Given the description of an element on the screen output the (x, y) to click on. 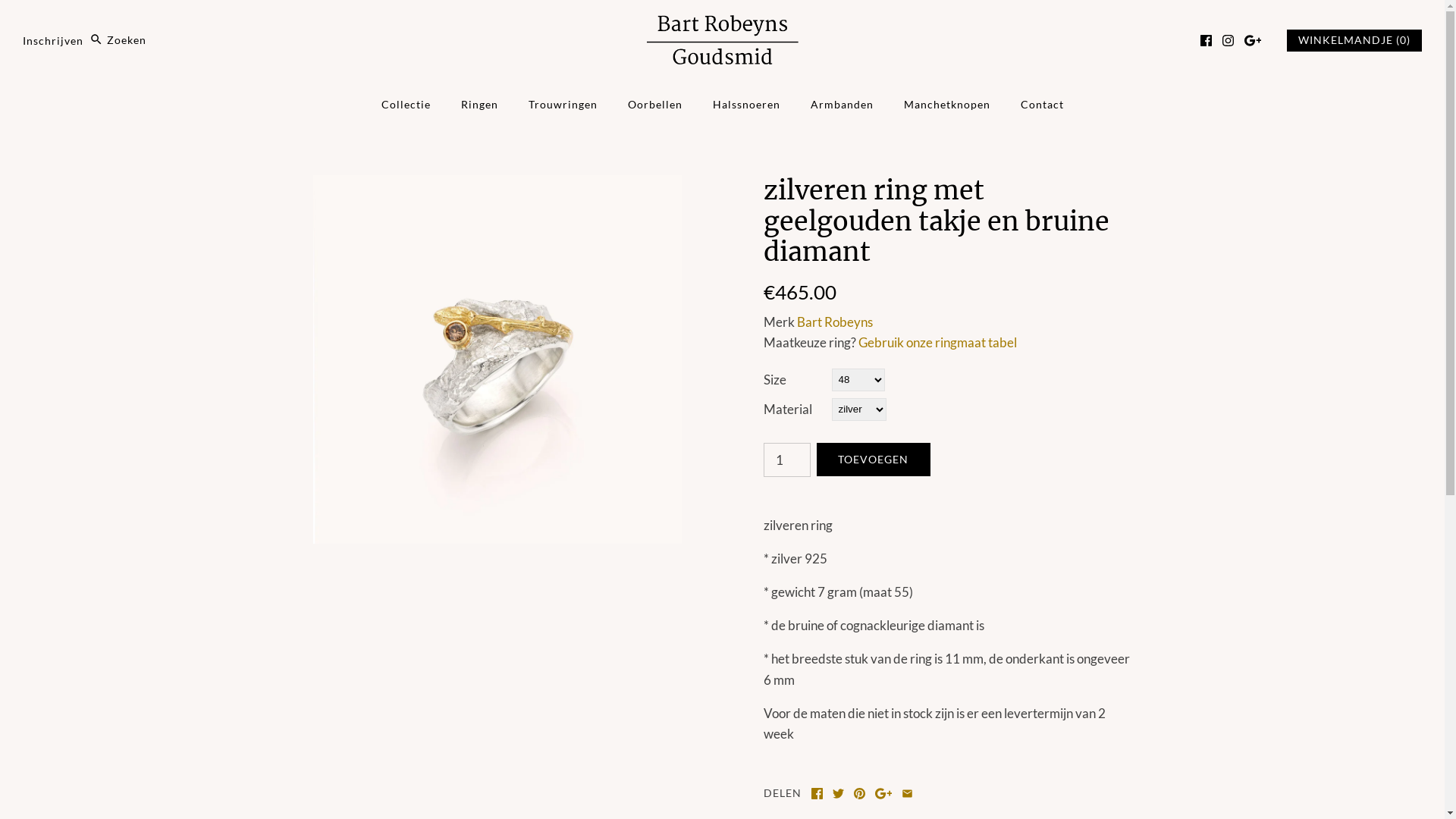
GooglePlus Element type: text (883, 793)
Pinterest Element type: text (859, 793)
Bart Robeyns Element type: hover (721, 25)
Trouwringen Element type: text (562, 104)
Inschrijven Element type: text (52, 40)
Toevoegen Element type: text (872, 459)
Halssnoeren Element type: text (746, 104)
Oorbellen Element type: text (655, 104)
zilveren ring met geelgouden takje en bruine diamant Element type: hover (496, 185)
Collectie Element type: text (405, 104)
Facebook Element type: text (816, 793)
Contact Element type: text (1042, 104)
Twitter Element type: text (838, 793)
Email Element type: text (907, 793)
Ringen Element type: text (479, 104)
Bart Robeyns Element type: text (834, 321)
GooglePlus Element type: text (1252, 40)
Facebook Element type: text (1205, 40)
Gebruik onze ringmaat tabel Element type: text (937, 342)
Armbanden Element type: text (841, 104)
Manchetknopen Element type: text (947, 104)
WINKELMANDJE (0) Element type: text (1353, 40)
Instagram Element type: text (1227, 40)
